Given the description of an element on the screen output the (x, y) to click on. 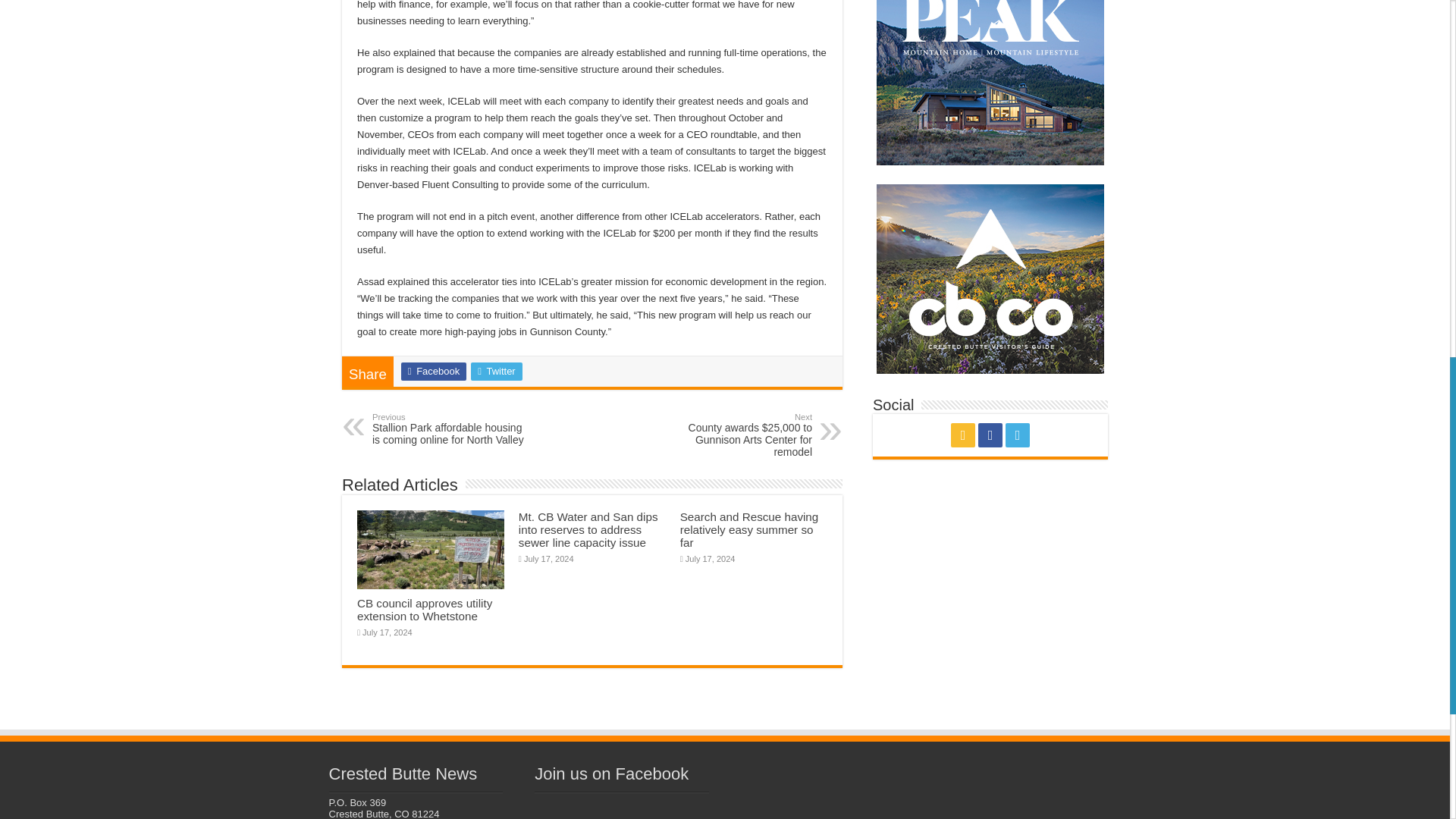
Facebook (990, 435)
Scroll To Top (1427, 60)
Rss (962, 435)
Twitter (1017, 435)
